Given the description of an element on the screen output the (x, y) to click on. 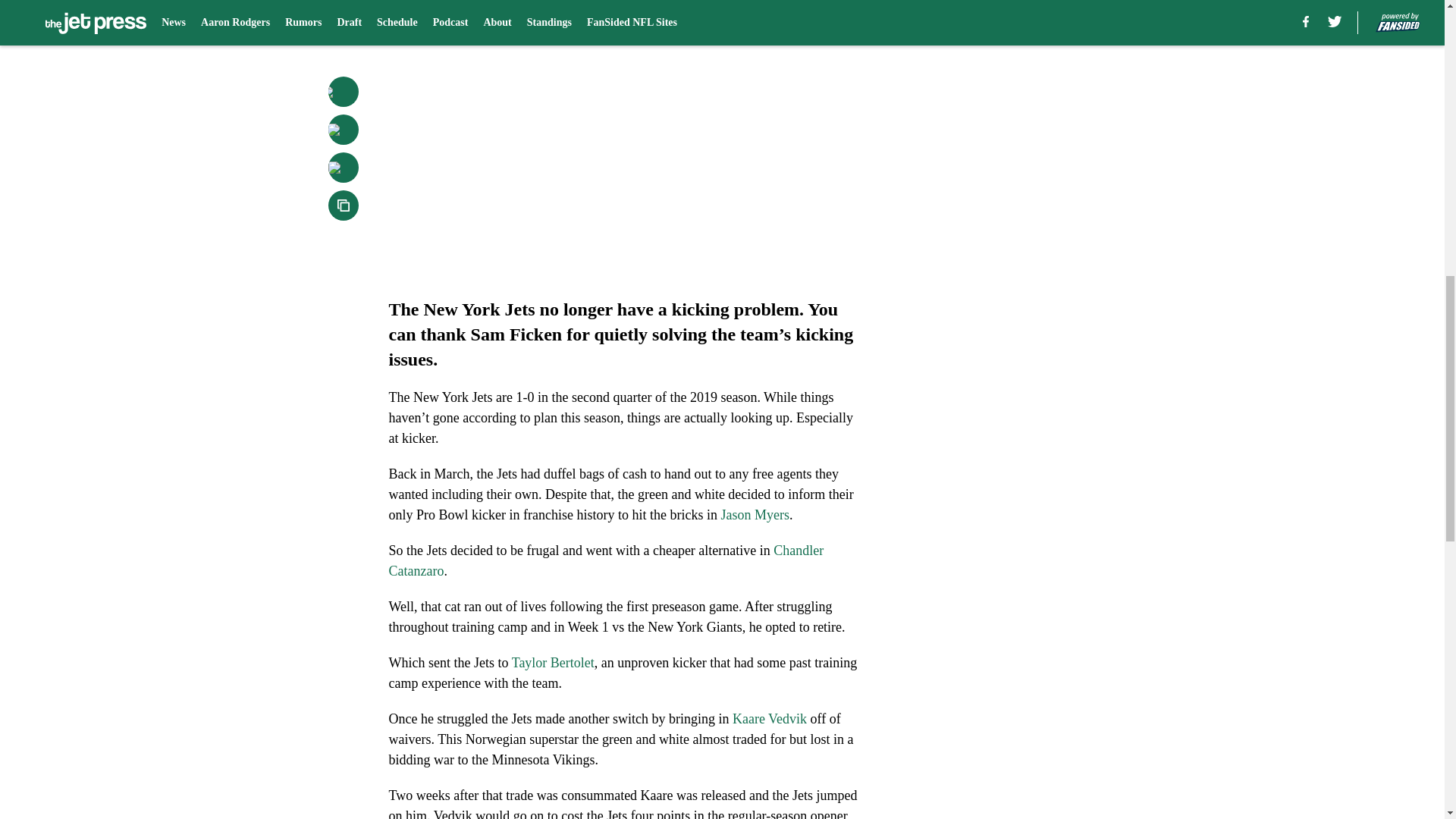
Jason Myers (754, 514)
Chandler Catanzaro (606, 560)
Kaare Vedvik (769, 718)
Taylor Bertolet (553, 662)
